Given the description of an element on the screen output the (x, y) to click on. 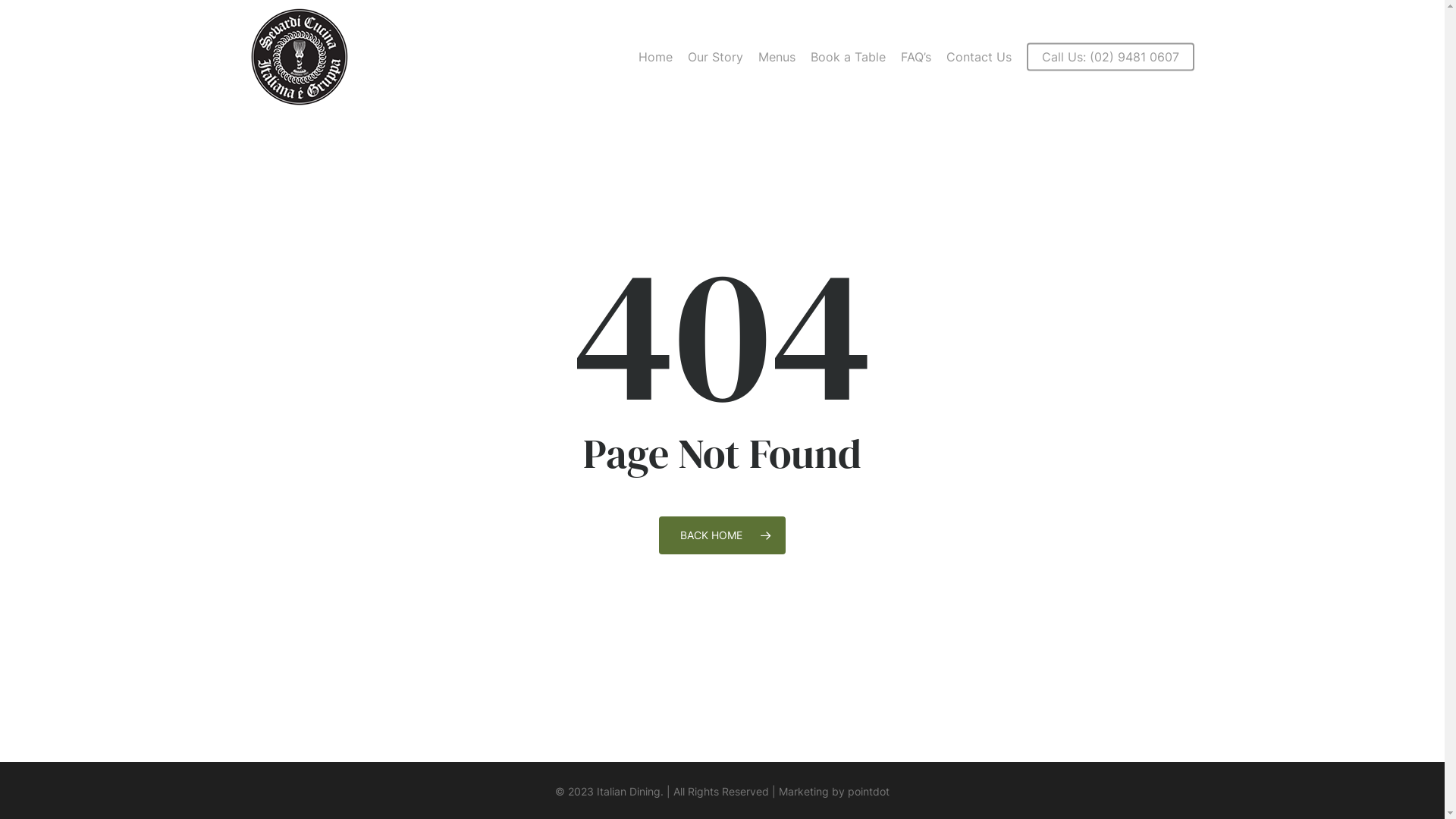
BACK HOME Element type: text (721, 534)
Our Story Element type: text (715, 56)
pointdot Element type: text (868, 790)
Book a Table Element type: text (847, 56)
Home Element type: text (655, 56)
Contact Us Element type: text (978, 56)
Call Us: (02) 9481 0607 Element type: text (1110, 56)
Menus Element type: text (776, 56)
